Given the description of an element on the screen output the (x, y) to click on. 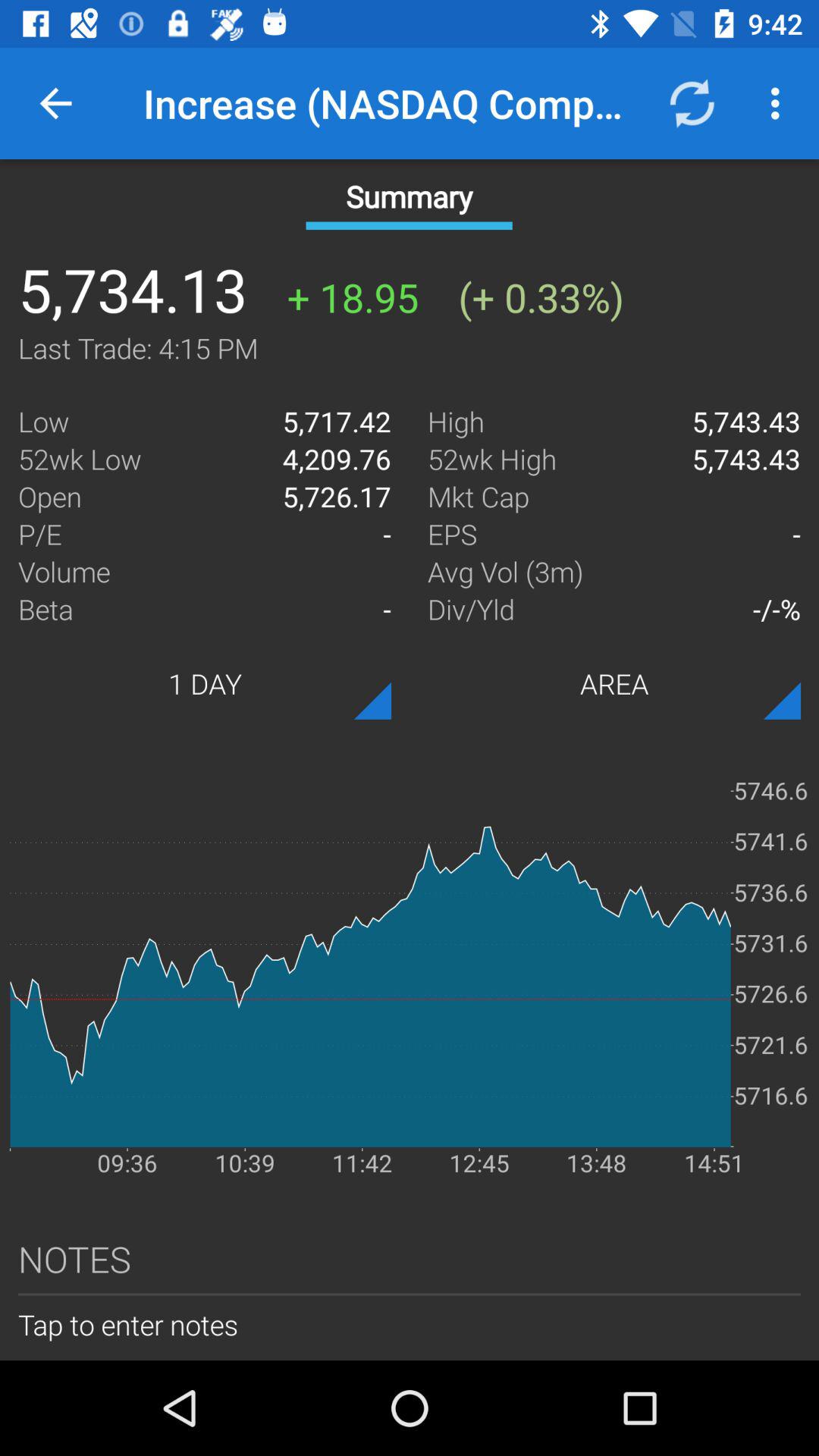
tap item next to increase (nasdaq composite) item (691, 103)
